Given the description of an element on the screen output the (x, y) to click on. 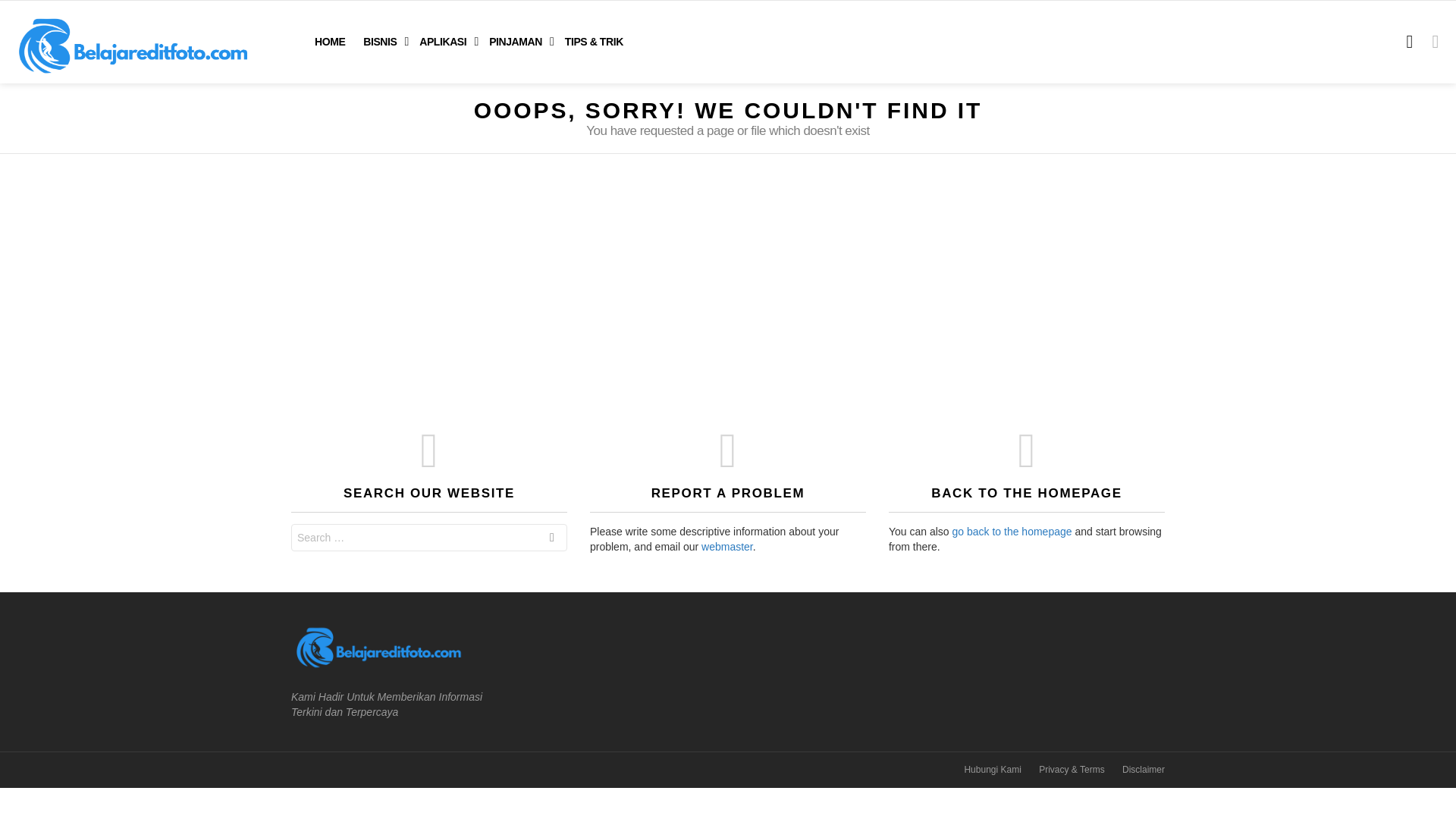
Disclaimer (1143, 769)
APLIKASI (445, 41)
BISNIS (382, 41)
PINJAMAN (517, 41)
Search for: (429, 537)
Hubungi Kami (991, 769)
HOME (329, 41)
go back to the homepage (1011, 531)
webmaster (726, 546)
